Given the description of an element on the screen output the (x, y) to click on. 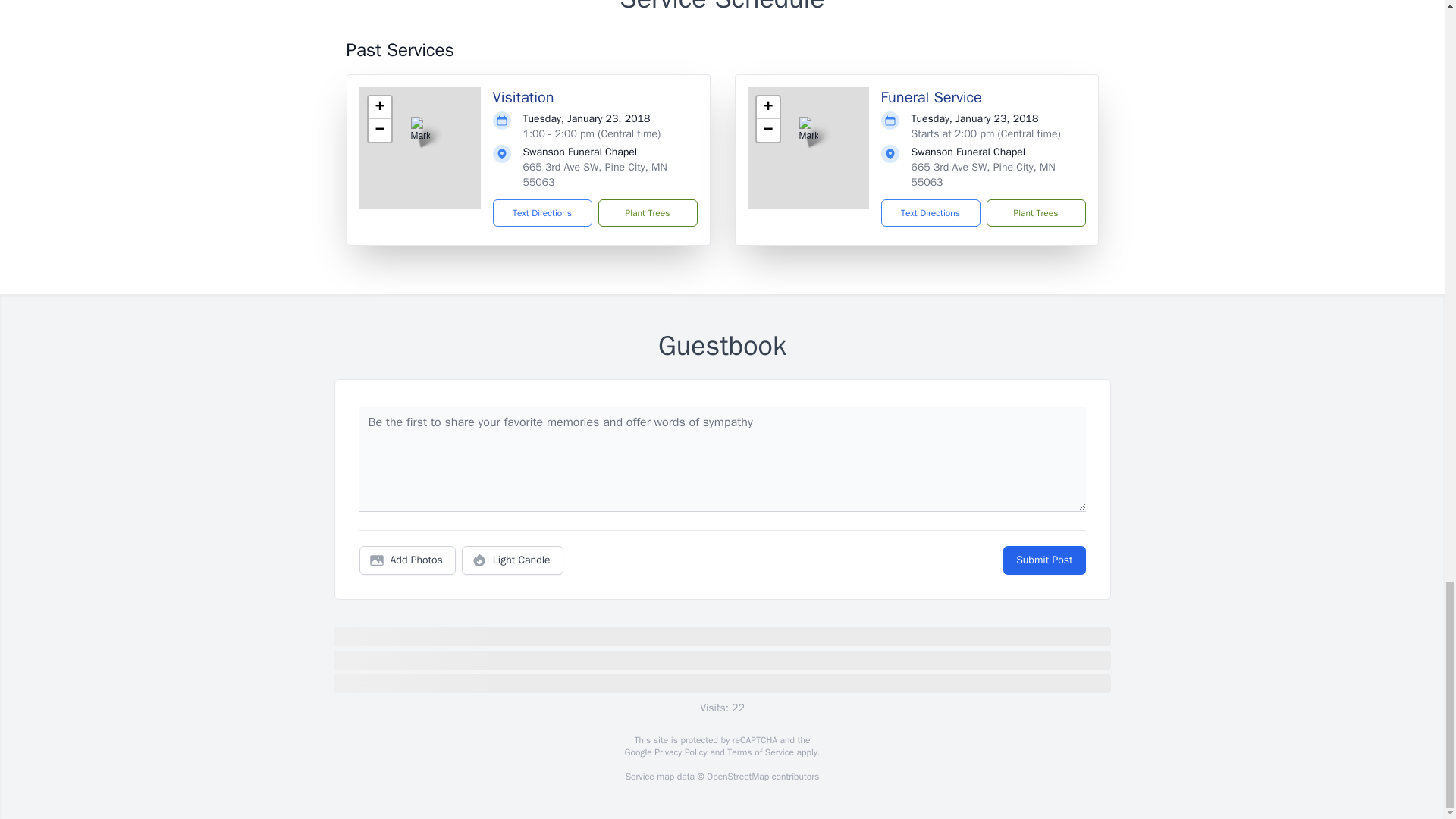
Text Directions (542, 212)
665 3rd Ave SW, Pine City, MN 55063 (983, 174)
Zoom out (379, 129)
Terms of Service (759, 752)
665 3rd Ave SW, Pine City, MN 55063 (594, 174)
Privacy Policy (679, 752)
Submit Post (1043, 560)
Zoom in (767, 107)
Text Directions (929, 212)
Light Candle (512, 560)
Zoom in (379, 107)
Add Photos (407, 560)
Plant Trees (1034, 212)
Plant Trees (646, 212)
Zoom out (767, 129)
